Given the description of an element on the screen output the (x, y) to click on. 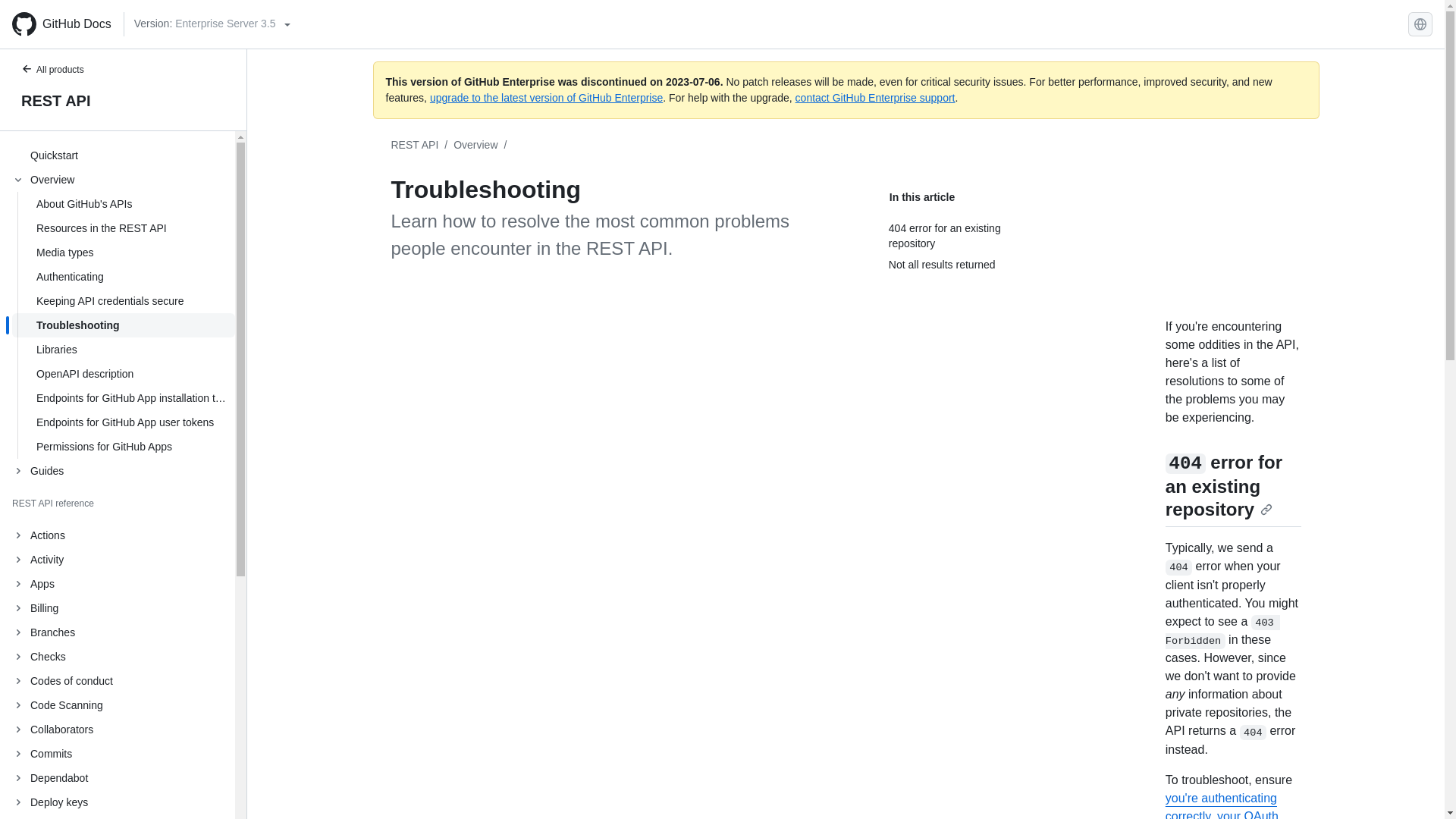
Keeping API credentials secure (122, 300)
Resources in the REST API (122, 228)
REST API (122, 100)
Libraries (122, 349)
REST API (415, 144)
REST API (415, 144)
Not all results returned (963, 264)
GitHub Docs (61, 24)
upgrade to the latest version of GitHub Enterprise (545, 97)
Endpoints for GitHub App installation tokens (122, 397)
